Given the description of an element on the screen output the (x, y) to click on. 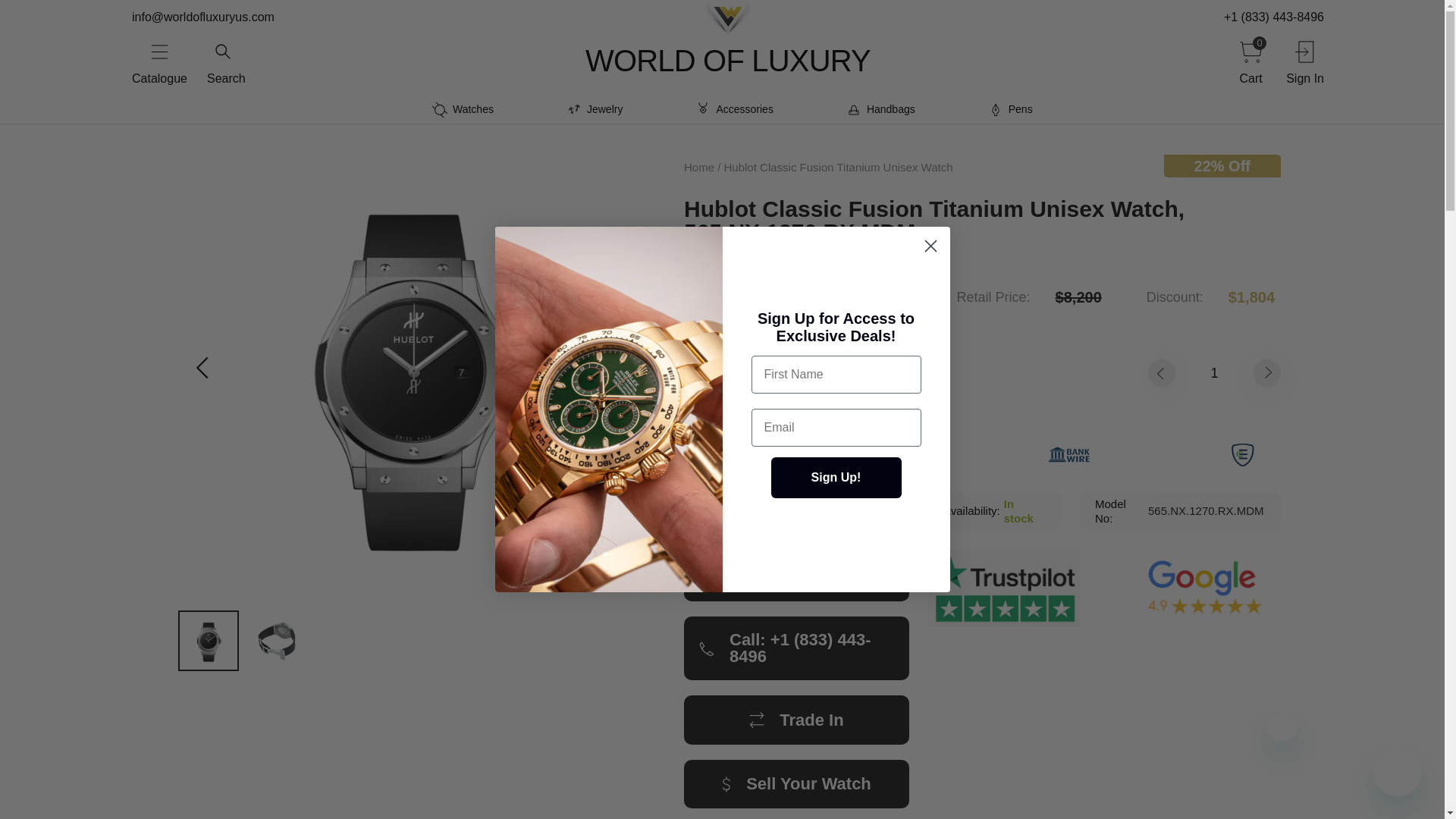
Button to launch messaging window (1397, 771)
Watches (462, 109)
Close message (1281, 726)
Close dialog 1 (930, 245)
WORLD OF LUXURY (727, 60)
Catalogue (159, 60)
